Given the description of an element on the screen output the (x, y) to click on. 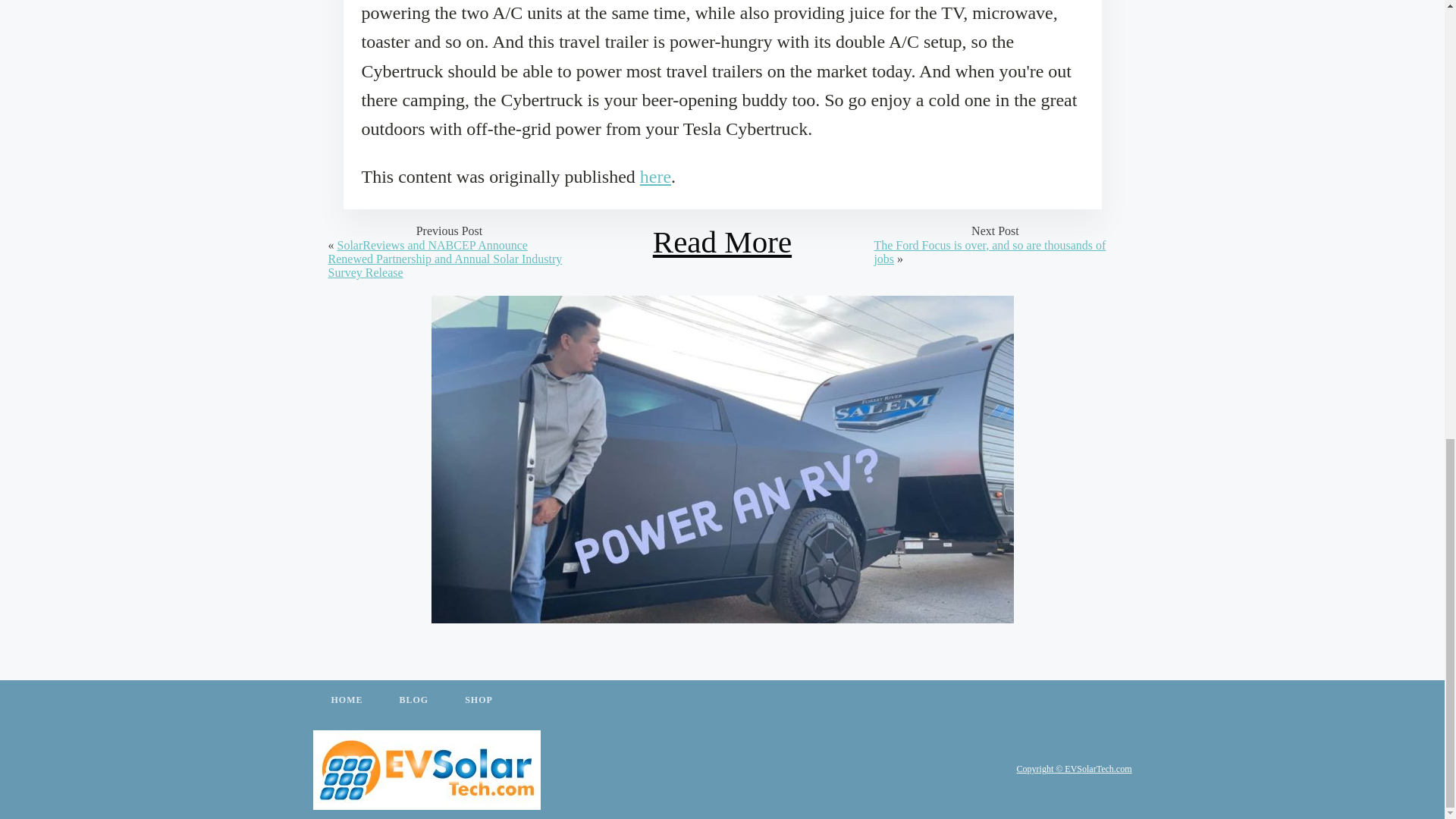
BLOG (413, 700)
Read More (722, 242)
here (655, 176)
SHOP (478, 700)
HOME (346, 700)
The Ford Focus is over, and so are thousands of jobs (989, 252)
